Given the description of an element on the screen output the (x, y) to click on. 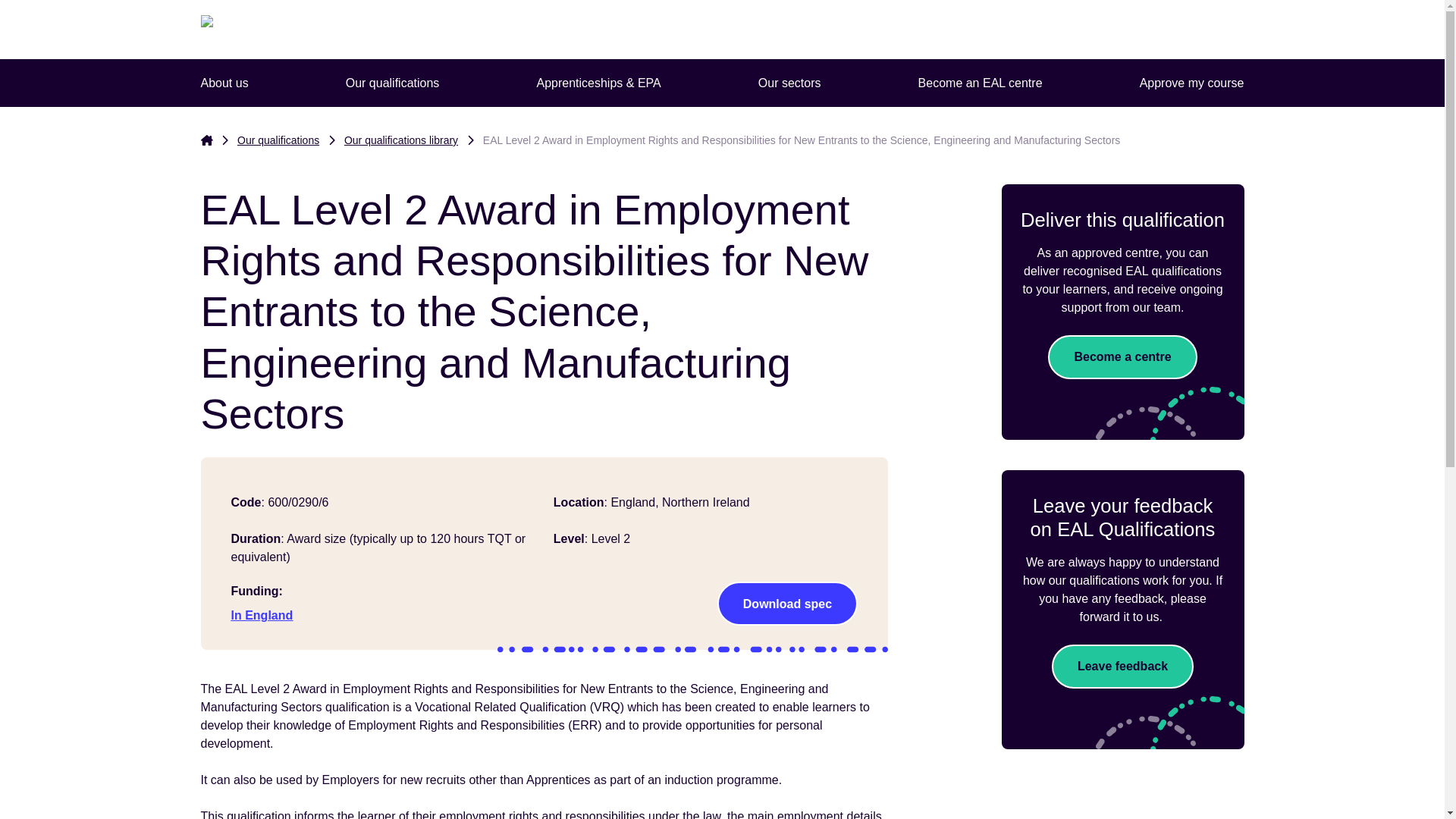
Become an EAL centre (980, 83)
Our qualifications (392, 83)
About us (223, 83)
Approve my course (1192, 83)
Our sectors (789, 83)
